Given the description of an element on the screen output the (x, y) to click on. 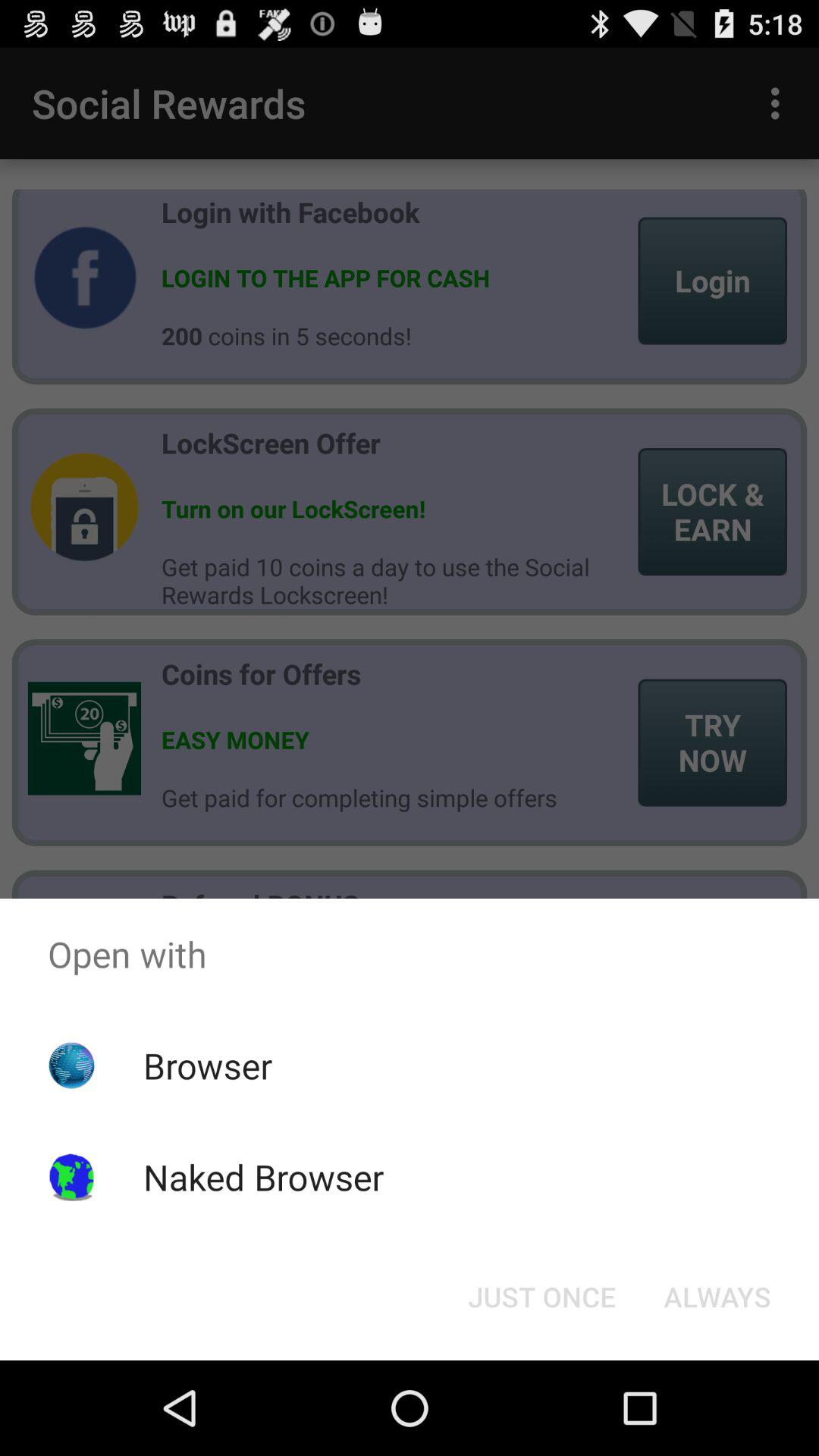
flip until the always item (717, 1296)
